Given the description of an element on the screen output the (x, y) to click on. 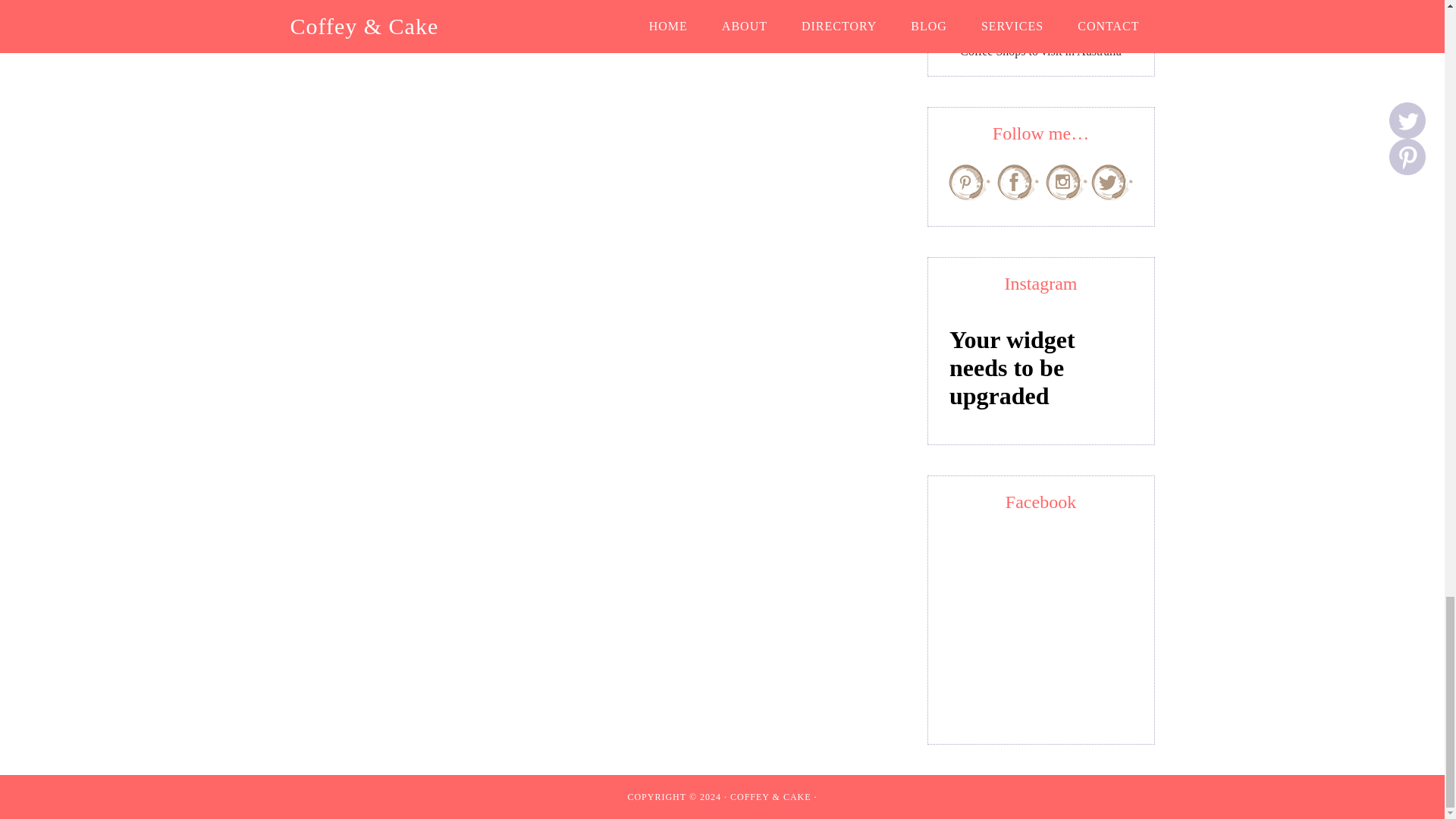
Post Comment (376, 1)
Coffee Shops to visit in Australia (1040, 51)
Post Comment (376, 1)
Moto Cafe (1040, 28)
Instagram Widget (1040, 366)
